Given the description of an element on the screen output the (x, y) to click on. 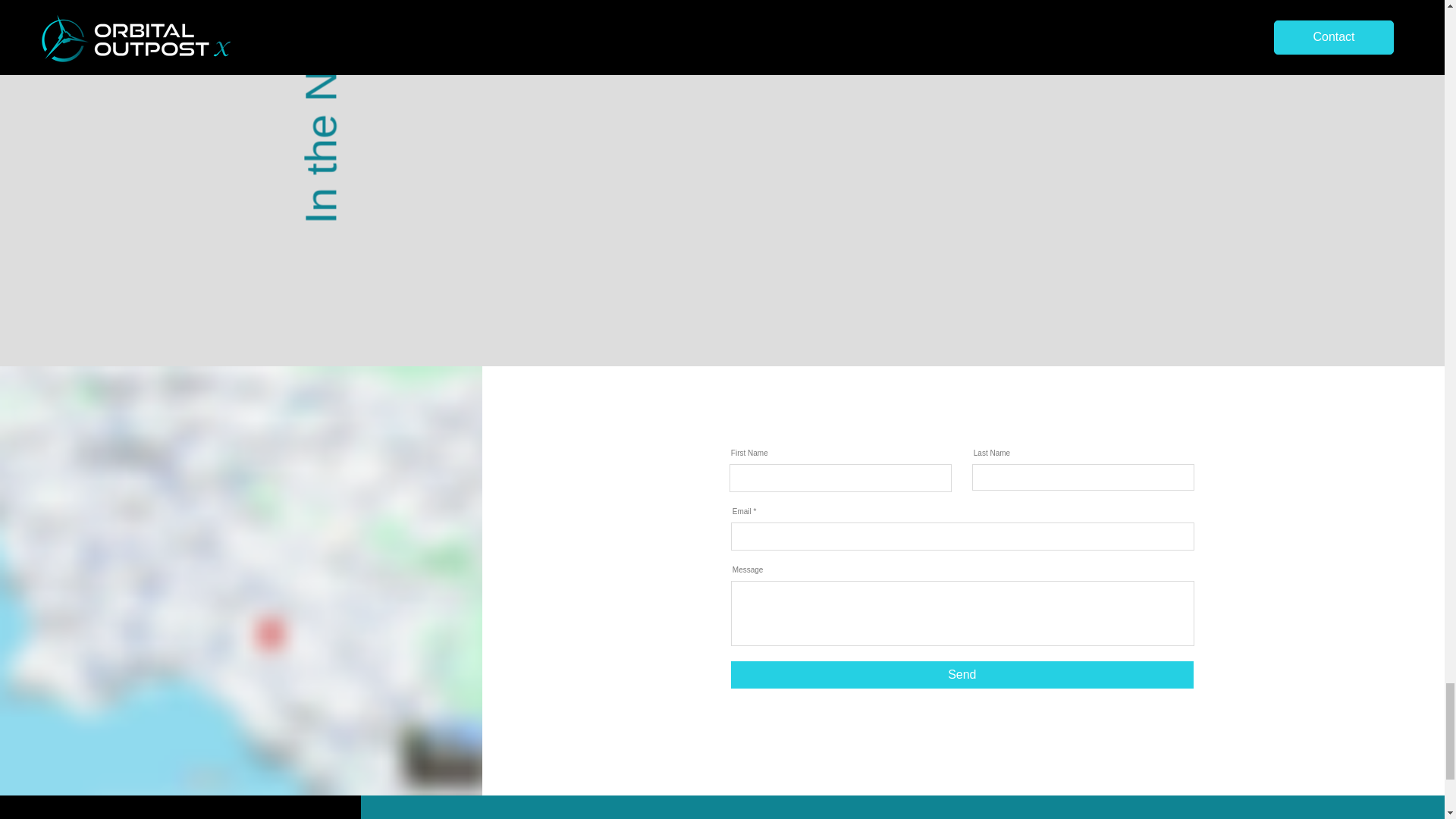
Send (961, 674)
